Given the description of an element on the screen output the (x, y) to click on. 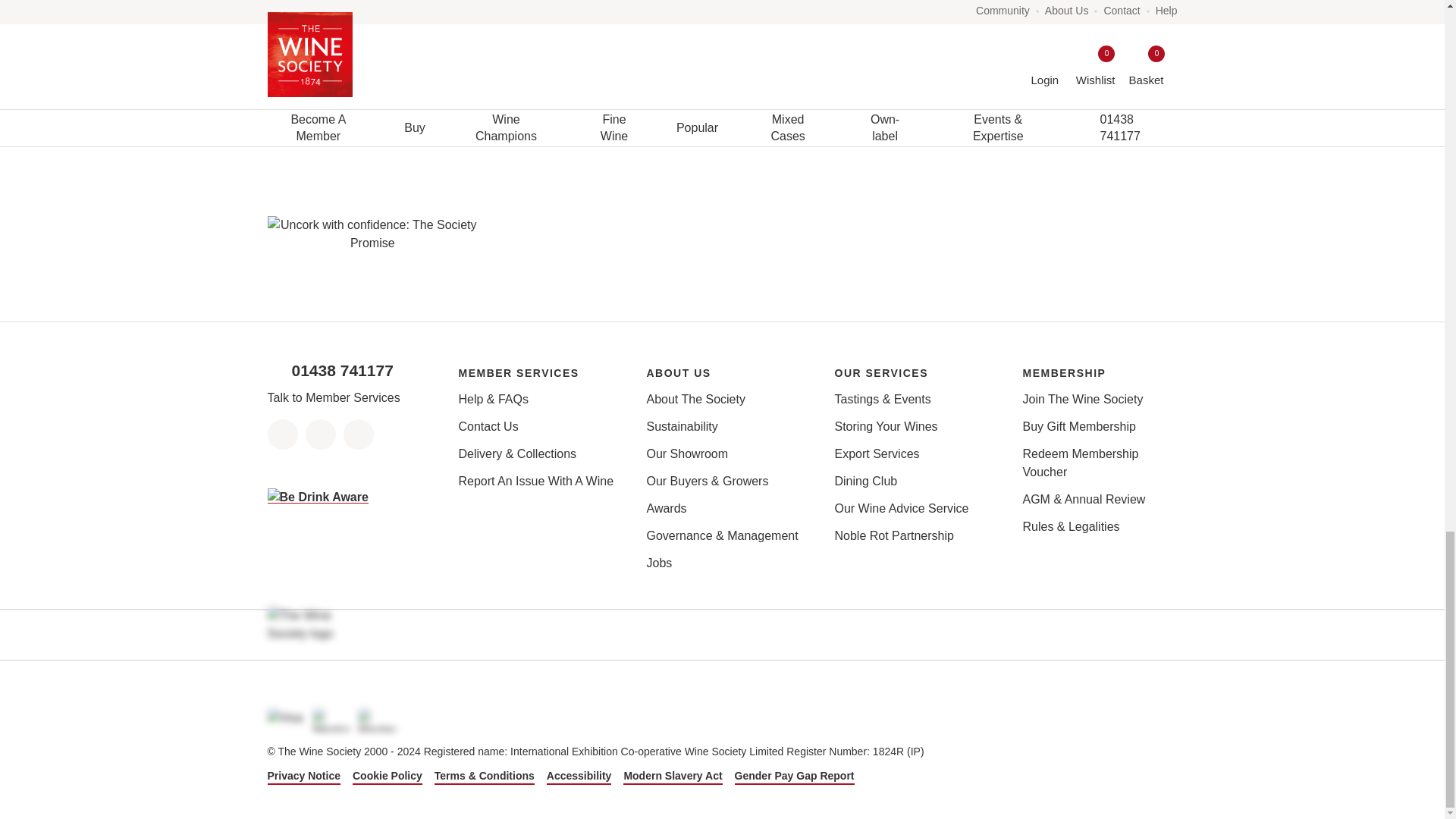
Visa (285, 720)
Mestro (331, 720)
Mastercard (377, 720)
Customer reviews powered by Trustpilot (1071, 234)
